Given the description of an element on the screen output the (x, y) to click on. 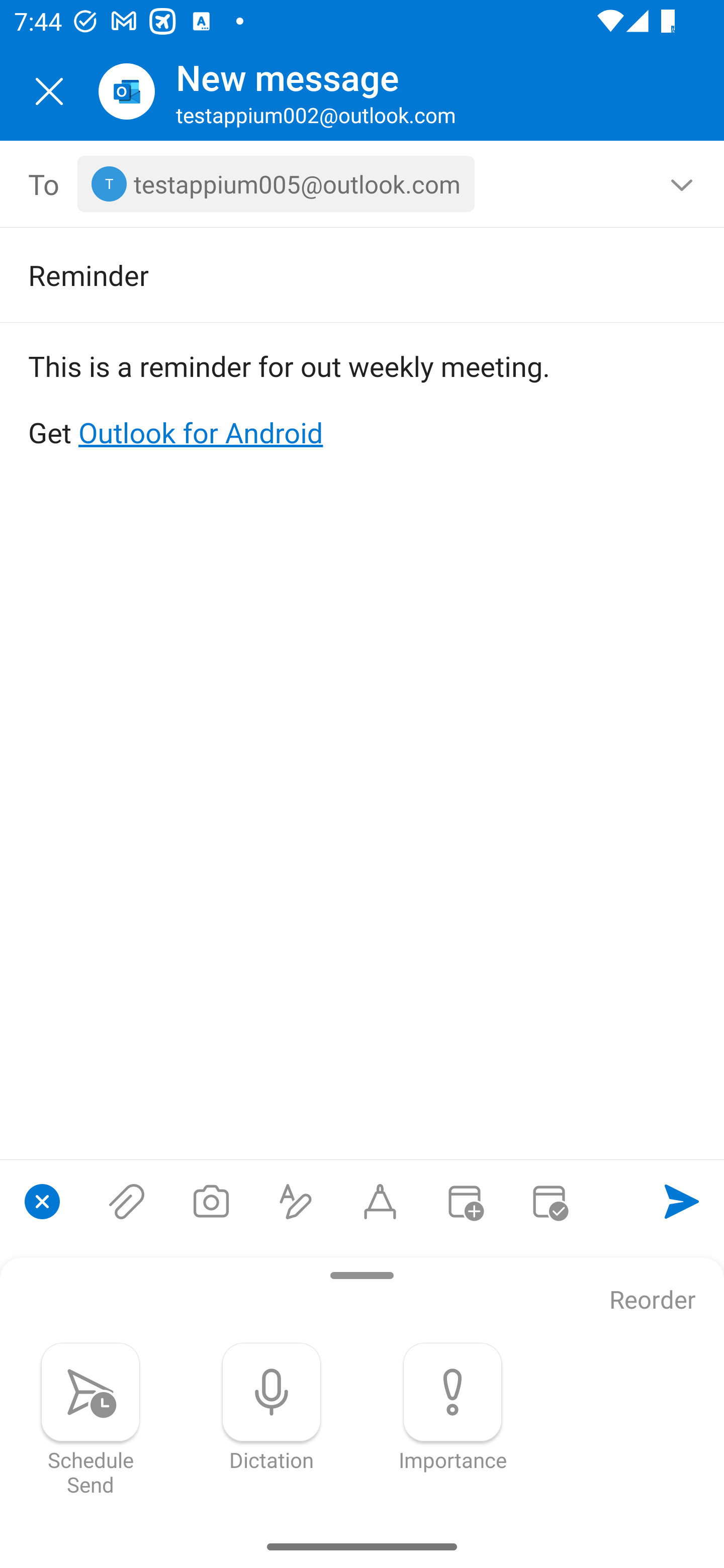
Close (49, 91)
Reminder (333, 274)
Close compose options (42, 1200)
Attach files (126, 1200)
Take a photo (210, 1200)
Show formatting options (295, 1200)
Start Ink compose (380, 1200)
Convert to event (464, 1200)
Send availability (548, 1200)
Send (681, 1200)
Reorder (652, 1300)
Schedule Send (90, 1419)
Dictation (271, 1406)
Importance (452, 1406)
